Given the description of an element on the screen output the (x, y) to click on. 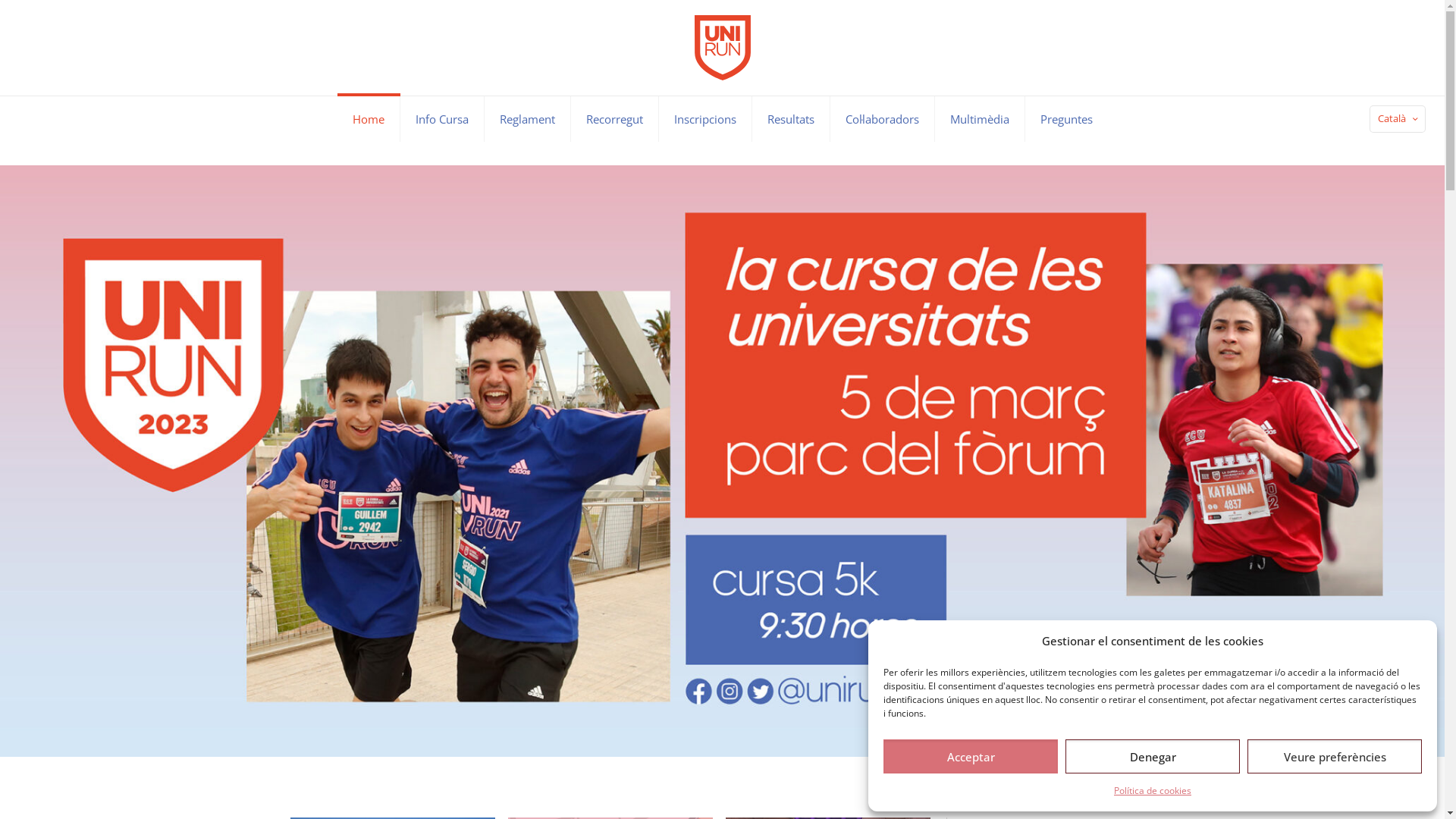
Home Element type: text (367, 118)
Acceptar Element type: text (970, 756)
UNIRUN Element type: hover (722, 47)
Preguntes Element type: text (1066, 118)
Resultats Element type: text (791, 118)
Denegar Element type: text (1152, 756)
Reglament Element type: text (526, 118)
Recorregut Element type: text (614, 118)
Info Cursa Element type: text (442, 118)
Inscripcions Element type: text (704, 118)
